Given the description of an element on the screen output the (x, y) to click on. 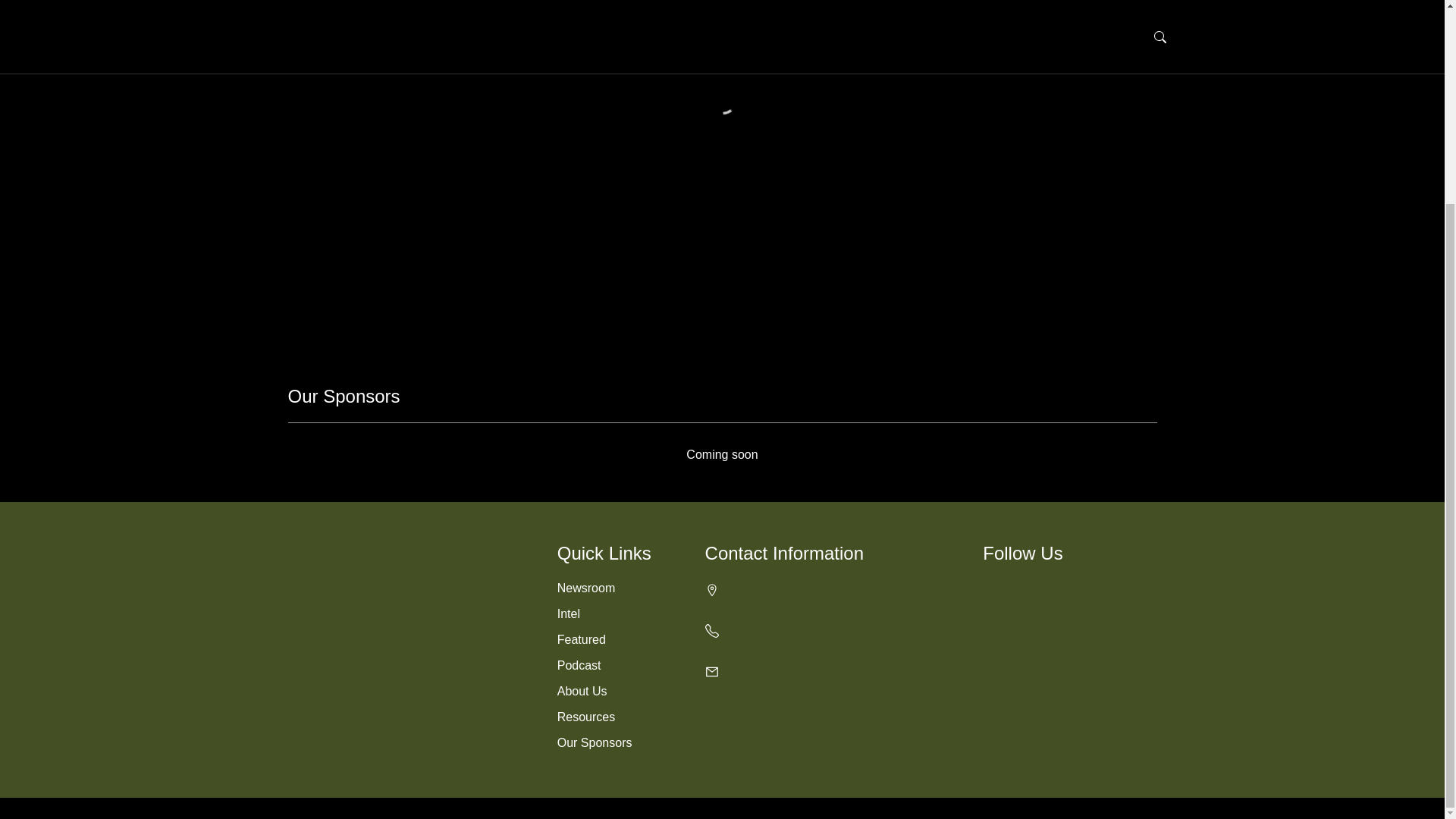
Featured (581, 639)
Resources (585, 716)
Podcast (579, 665)
Intel (568, 613)
Our Sponsors (594, 742)
About Us (582, 690)
Newsroom (585, 587)
